Given the description of an element on the screen output the (x, y) to click on. 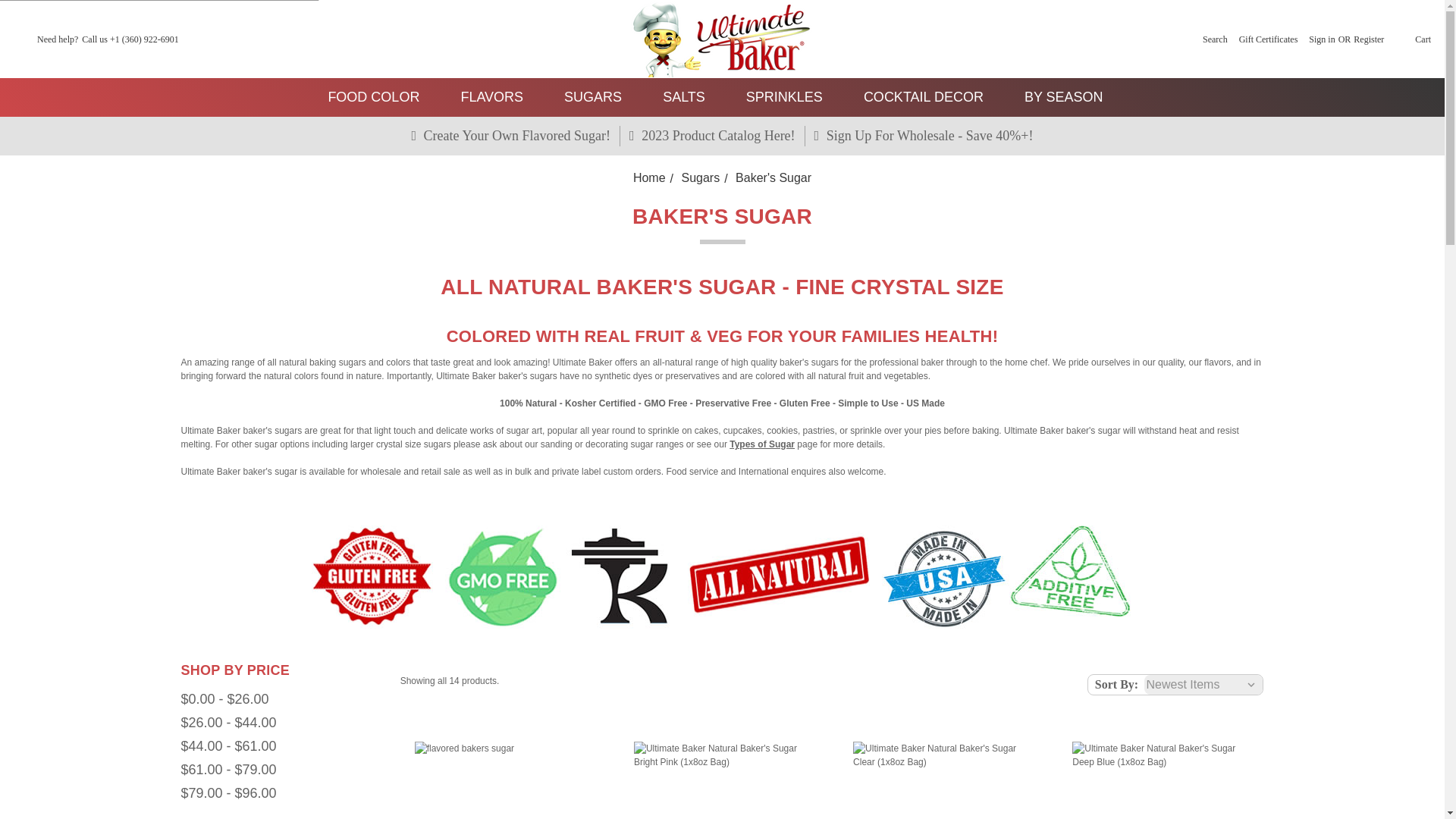
flavored bakers sugar (502, 780)
FLAVORS (498, 97)
healthy.jpg (721, 576)
Sign in (1321, 38)
Search (1214, 38)
Cart (1412, 38)
FOOD COLOR (380, 97)
Gift Certificates (1268, 38)
SUGARS (599, 97)
Register (1369, 38)
